Given the description of an element on the screen output the (x, y) to click on. 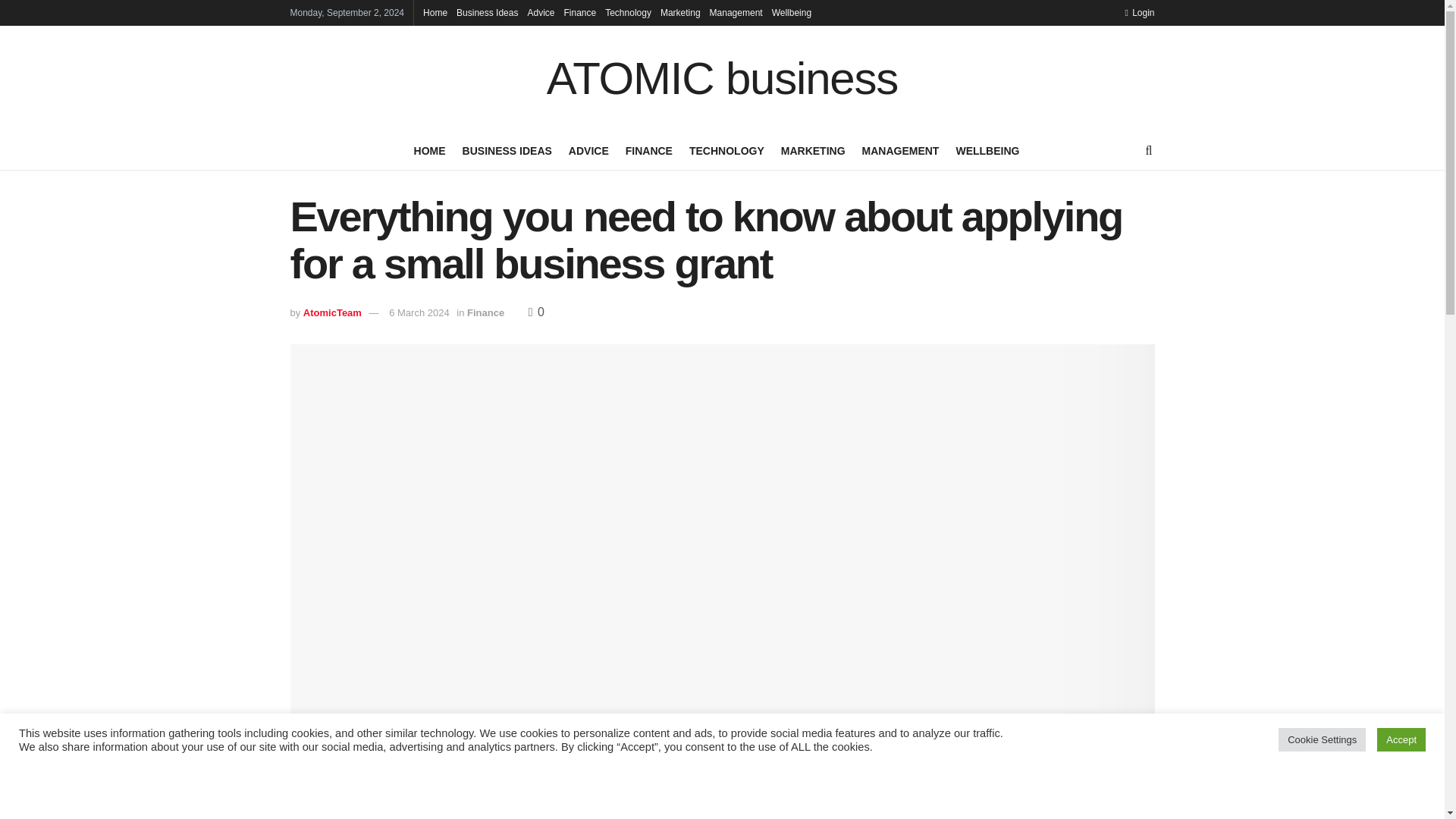
Wellbeing (790, 12)
ATOMIC business (722, 78)
Marketing (680, 12)
Business Ideas (487, 12)
AtomicTeam (331, 312)
Finance (579, 12)
HOME (429, 150)
Finance (485, 312)
ADVICE (588, 150)
0 (536, 311)
